Given the description of an element on the screen output the (x, y) to click on. 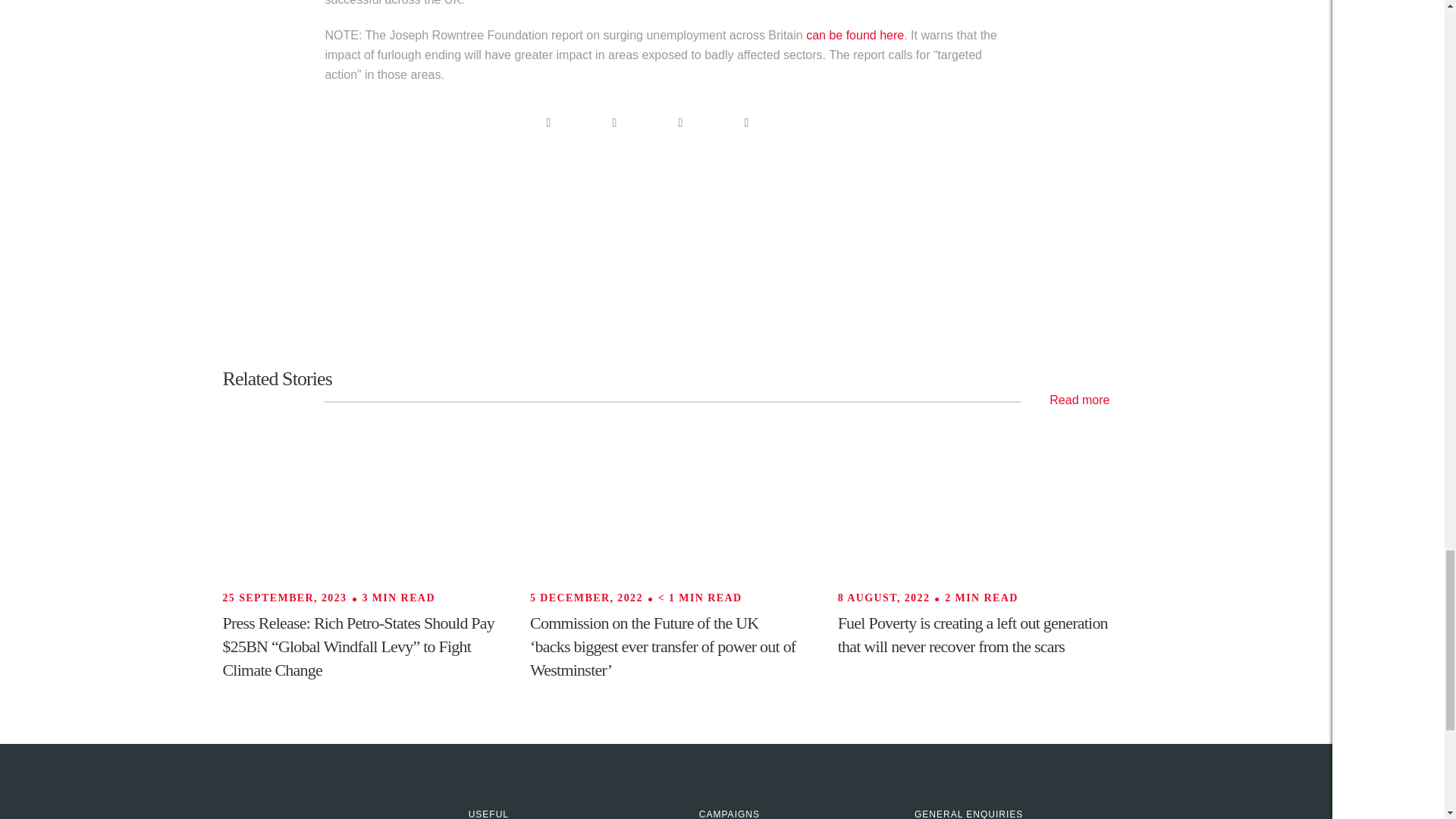
SUBSCRIBE (1029, 251)
can be found here (855, 34)
